Given the description of an element on the screen output the (x, y) to click on. 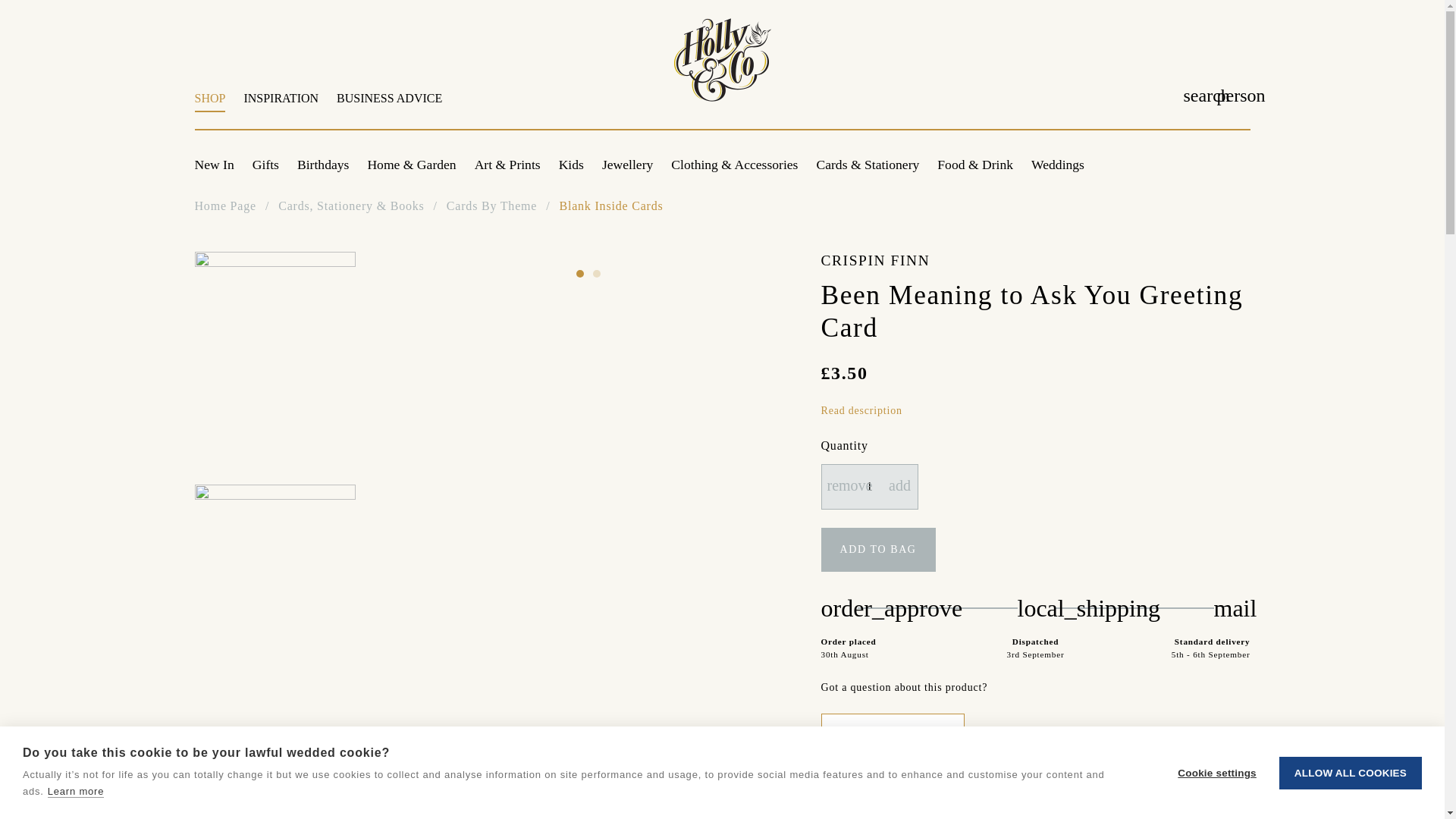
BUSINESS ADVICE (589, 105)
1 (384, 106)
INSPIRATION (869, 486)
